Given the description of an element on the screen output the (x, y) to click on. 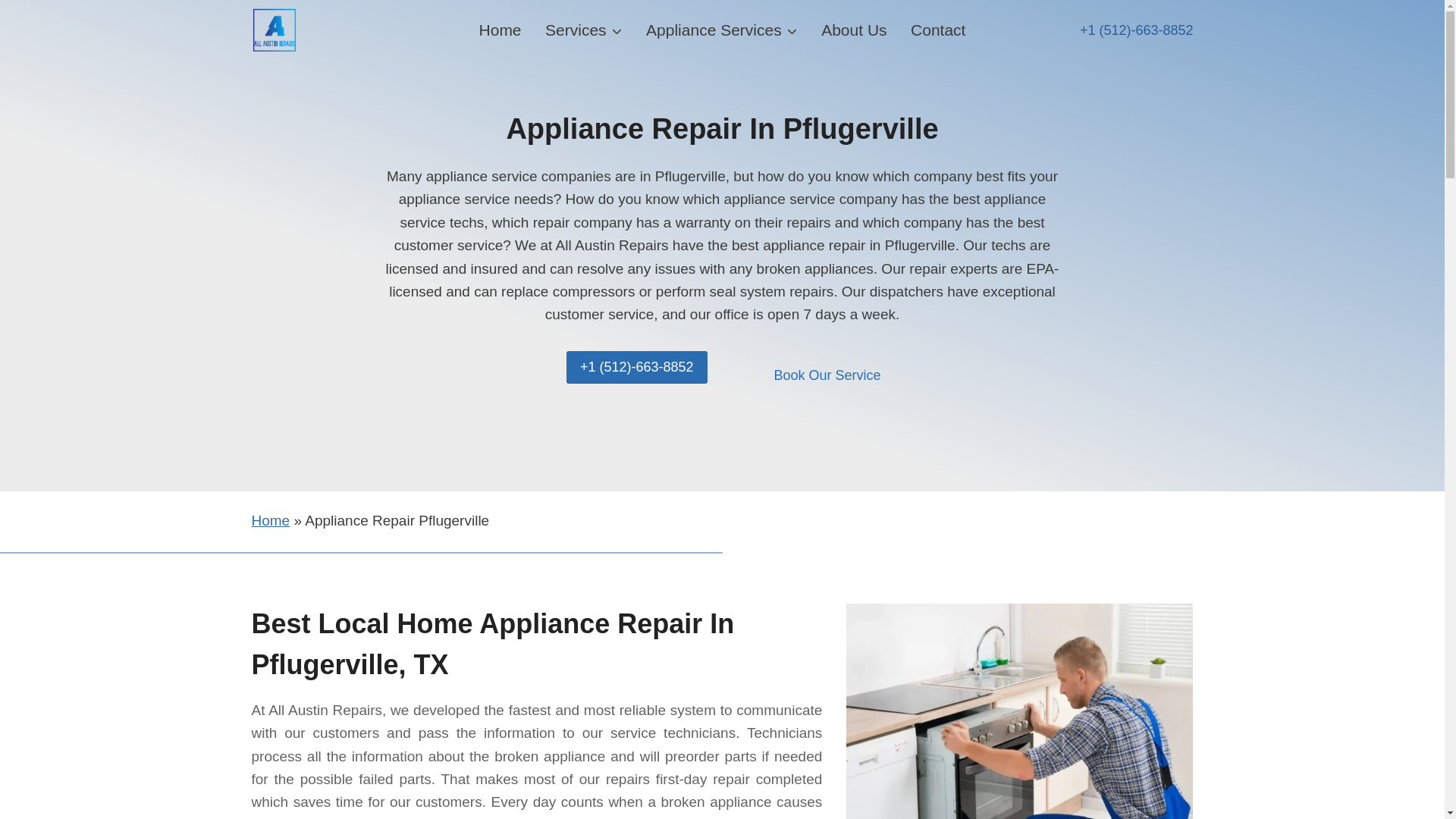
Appliance Services (721, 30)
Book Our Service (826, 375)
About Us (853, 30)
Appliance Repair in Pflugerville 1 (1018, 711)
Home (270, 520)
Services (582, 30)
Contact (937, 30)
Home (500, 30)
